Given the description of an element on the screen output the (x, y) to click on. 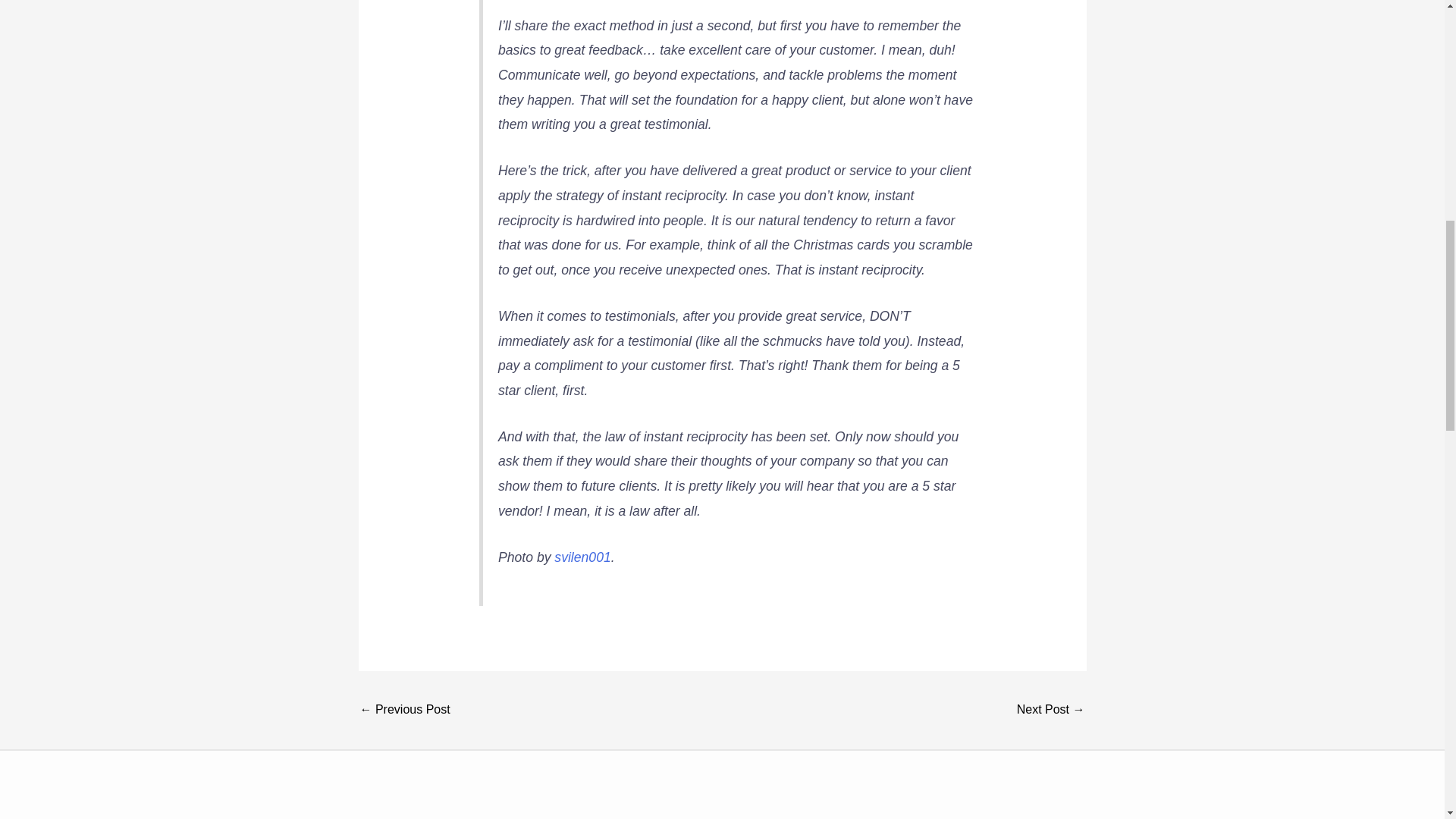
Secret To Work-At-Home Success (404, 710)
svilen001 (582, 557)
Granite Transformations Wins Marketing Award (1050, 710)
